Given the description of an element on the screen output the (x, y) to click on. 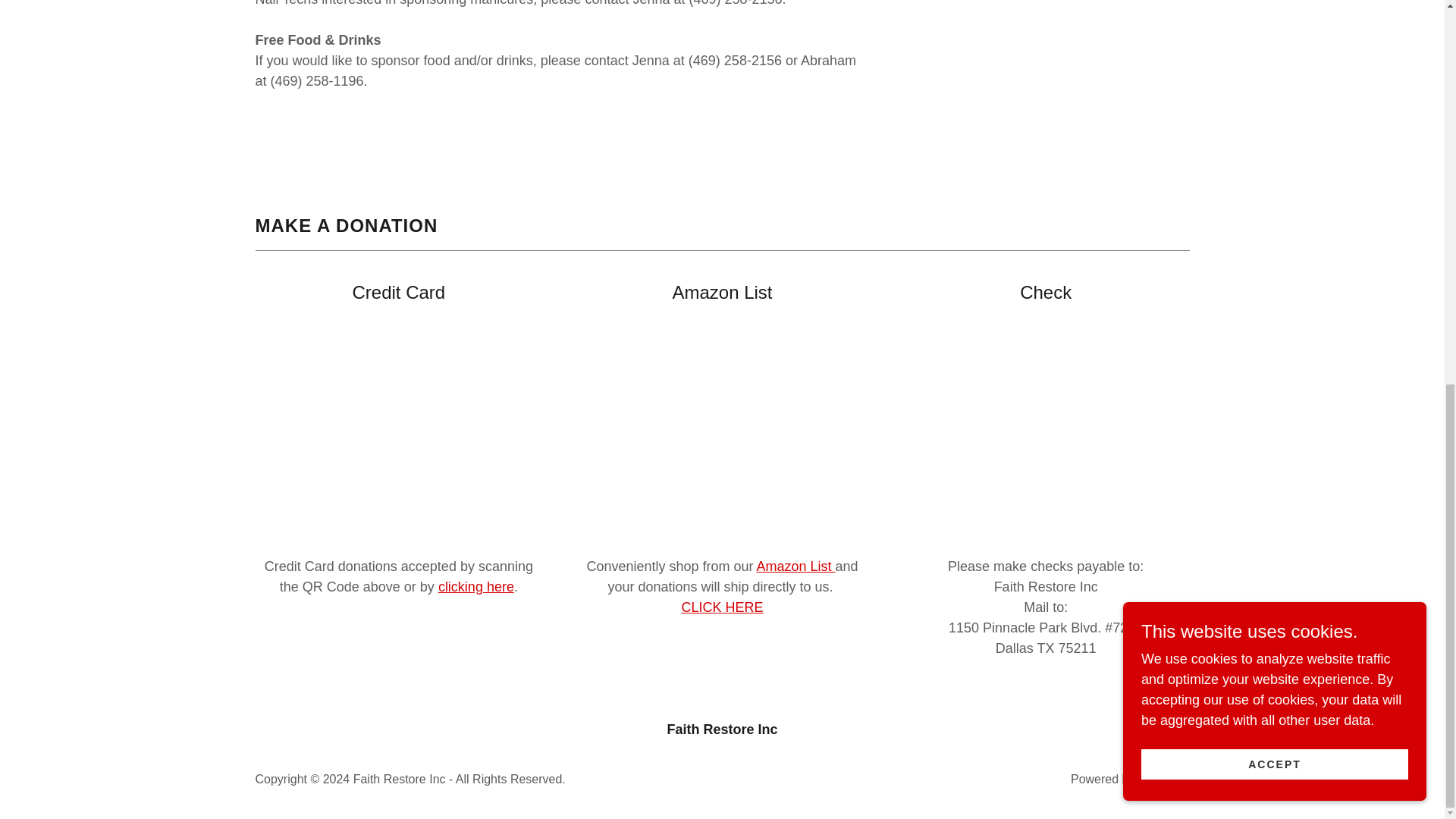
GoDaddy (1163, 779)
ACCEPT (1274, 42)
clicking here (475, 586)
Amazon List (796, 566)
CLICK HERE (721, 607)
